Given the description of an element on the screen output the (x, y) to click on. 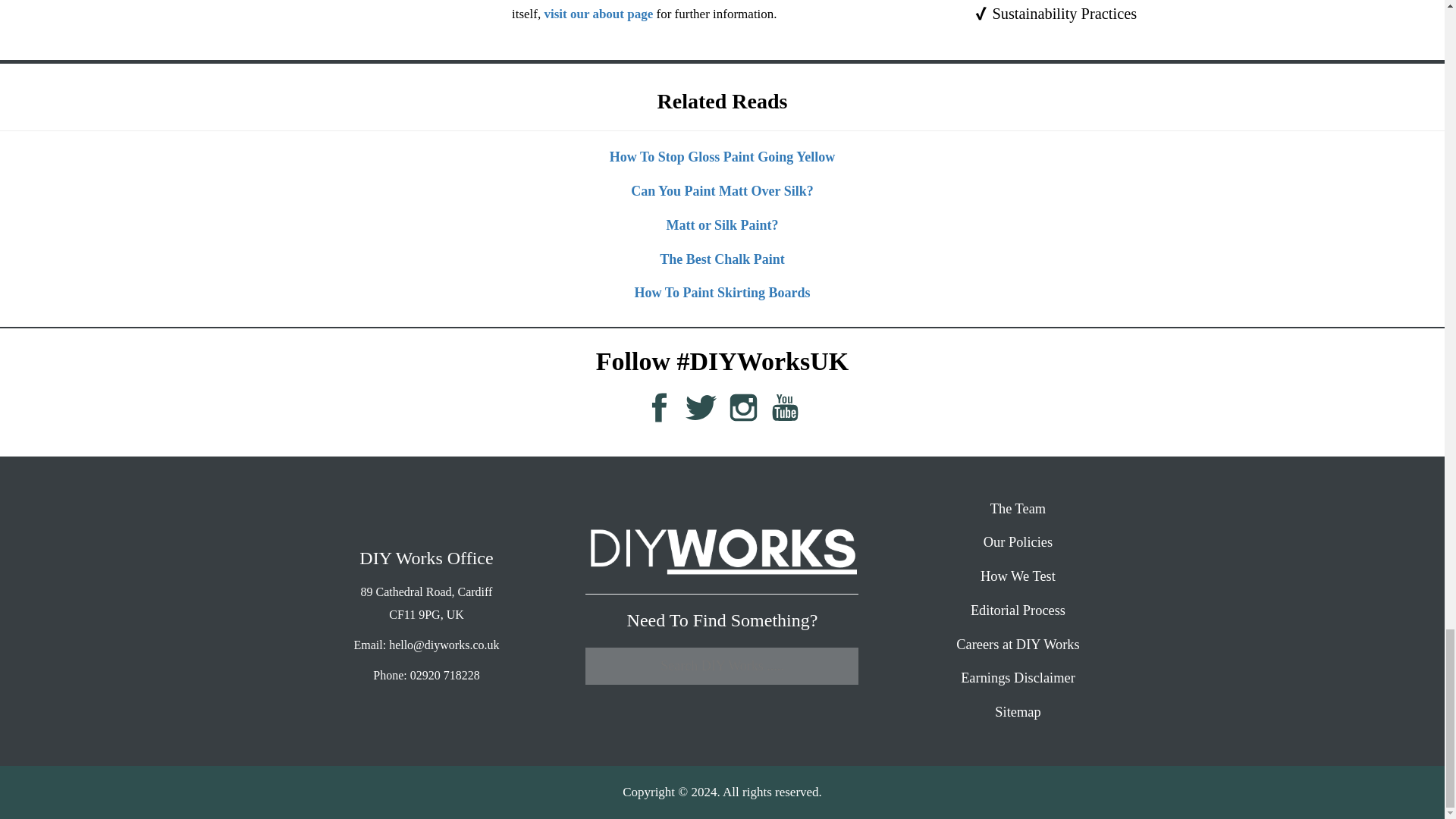
DIY Works Logo (722, 551)
Editorial Process (1018, 610)
How To Paint Skirting Boards (721, 286)
Sitemap (1017, 711)
Careers at DIY Works (1017, 644)
The Team (1017, 508)
The Best Chalk Paint (721, 253)
Earnings Disclaimer (1017, 677)
How We Test (1017, 575)
Can You Paint Matt Over Silk? (721, 185)
How To Stop Gloss Paint Going Yellow (722, 151)
Our Policies (1018, 541)
Search (722, 666)
visit our about page (598, 13)
Matt or Silk Paint? (721, 219)
